Given the description of an element on the screen output the (x, y) to click on. 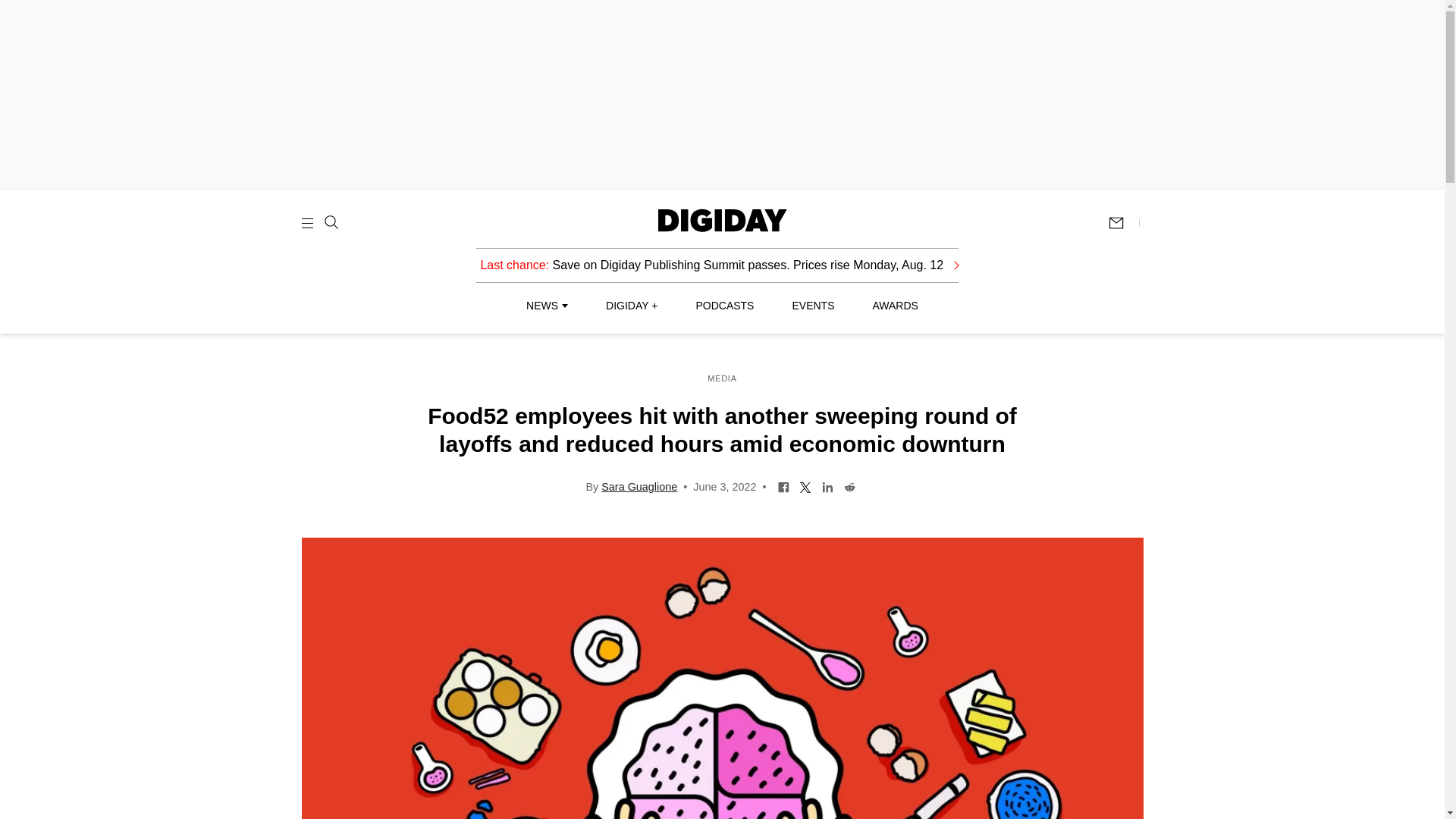
Share on Twitter (805, 485)
Share on Reddit (849, 485)
PODCASTS (725, 305)
NEWS (546, 305)
AWARDS (894, 305)
EVENTS (813, 305)
Share on LinkedIn (827, 485)
Subscribe (1123, 223)
Share on Facebook (783, 485)
